Given the description of an element on the screen output the (x, y) to click on. 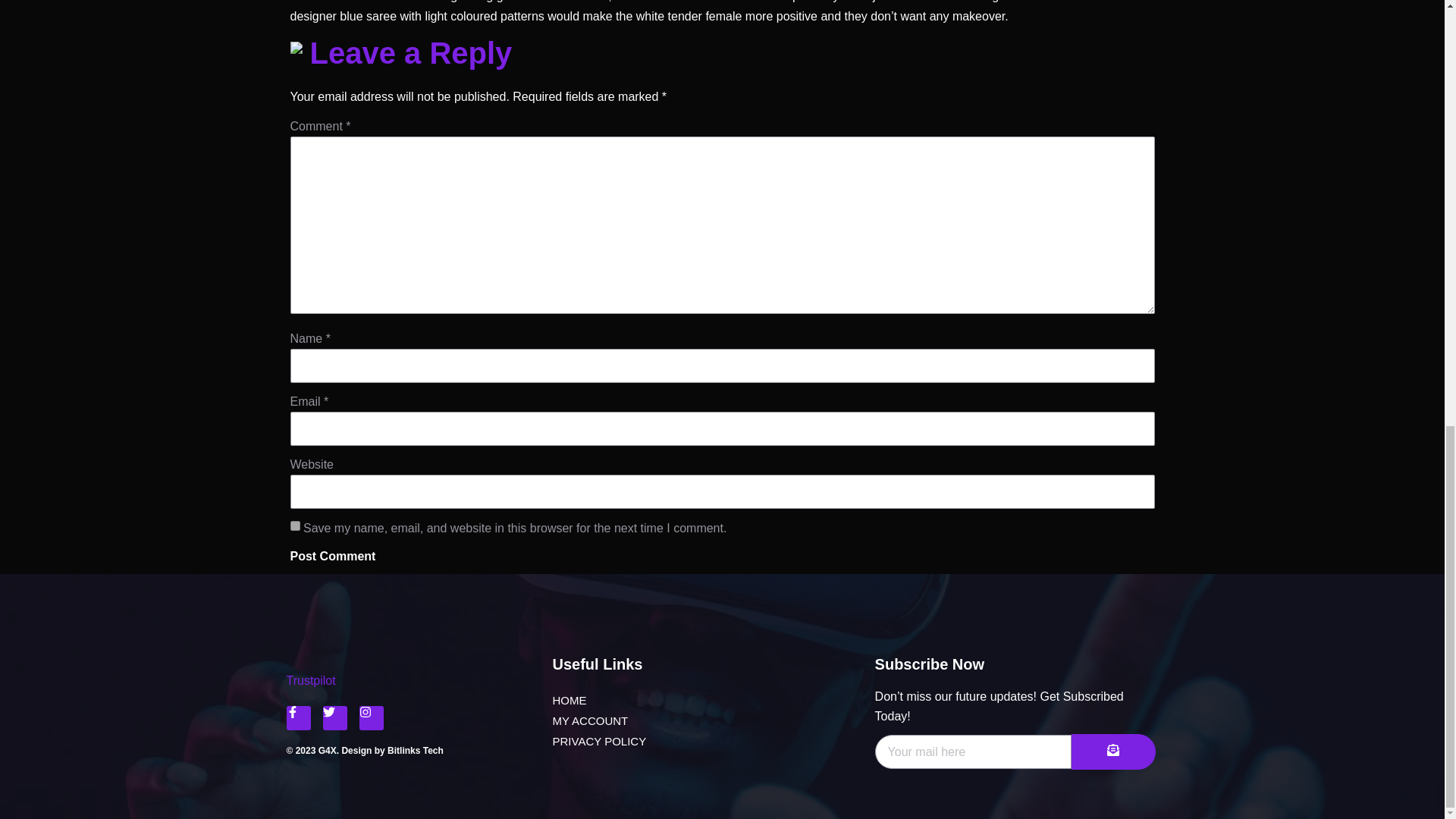
Post Comment (332, 556)
yes (294, 525)
